Given the description of an element on the screen output the (x, y) to click on. 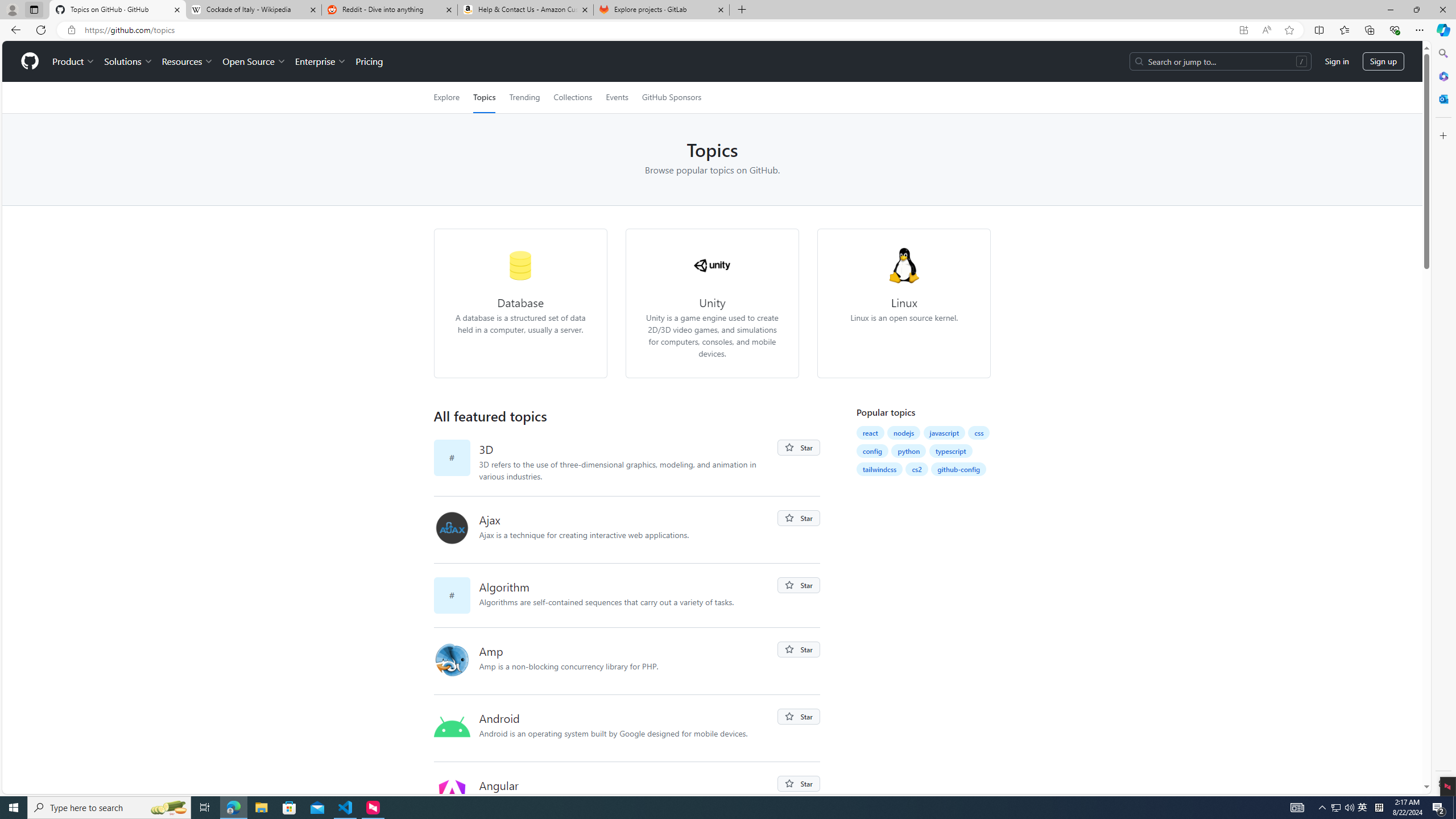
amphp (451, 659)
nodejs (903, 432)
App available. Install GitHub (1243, 29)
Homepage (29, 61)
ajax (456, 529)
javascript (944, 432)
Enterprise (319, 60)
typescript (951, 451)
Trending (524, 97)
Explore (446, 97)
